Given the description of an element on the screen output the (x, y) to click on. 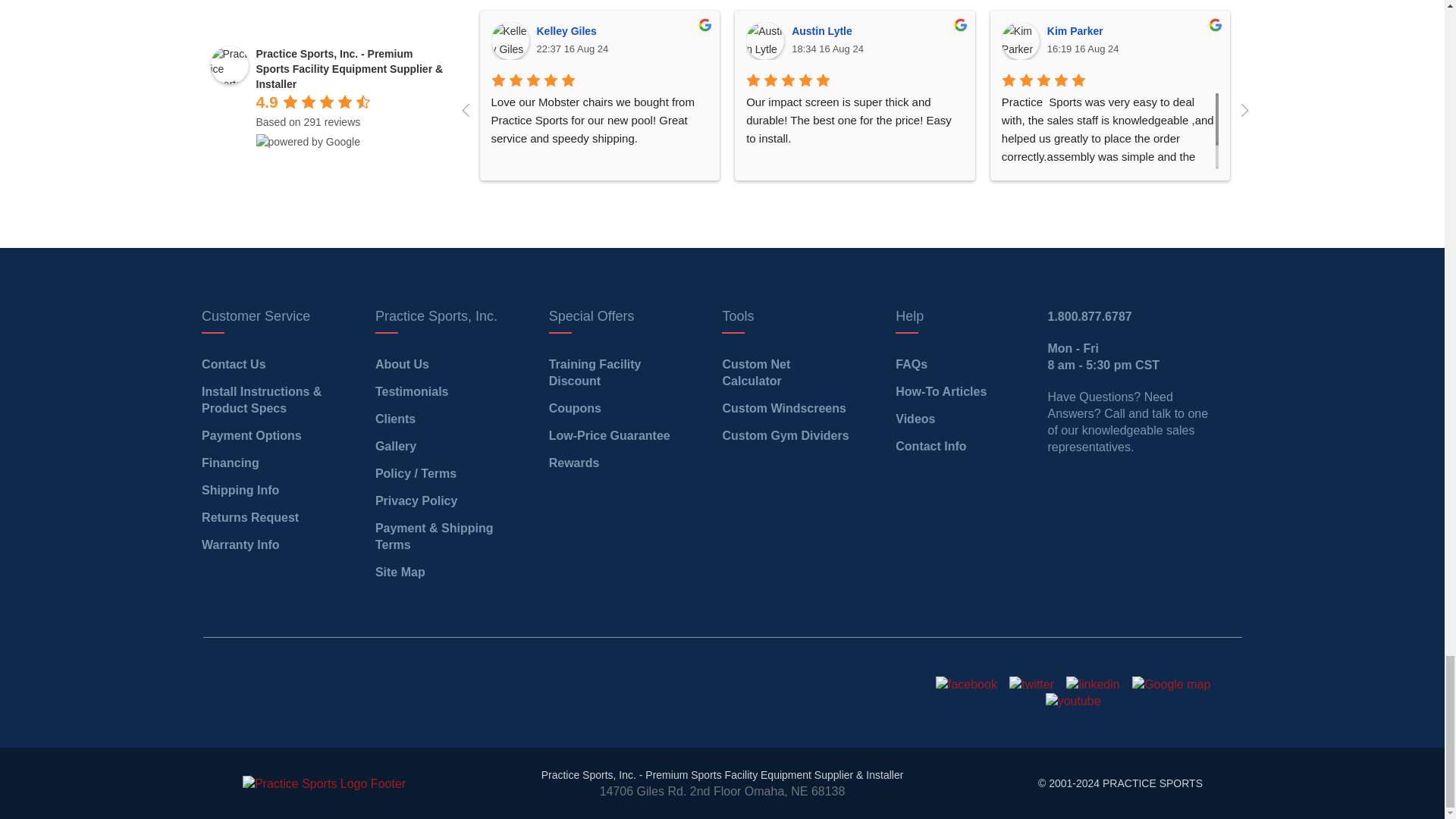
Kelley Giles (510, 40)
Austin Lytle (764, 40)
Kim Parker (1020, 40)
Matthew Hayes (1275, 40)
powered by Google (307, 141)
